Given the description of an element on the screen output the (x, y) to click on. 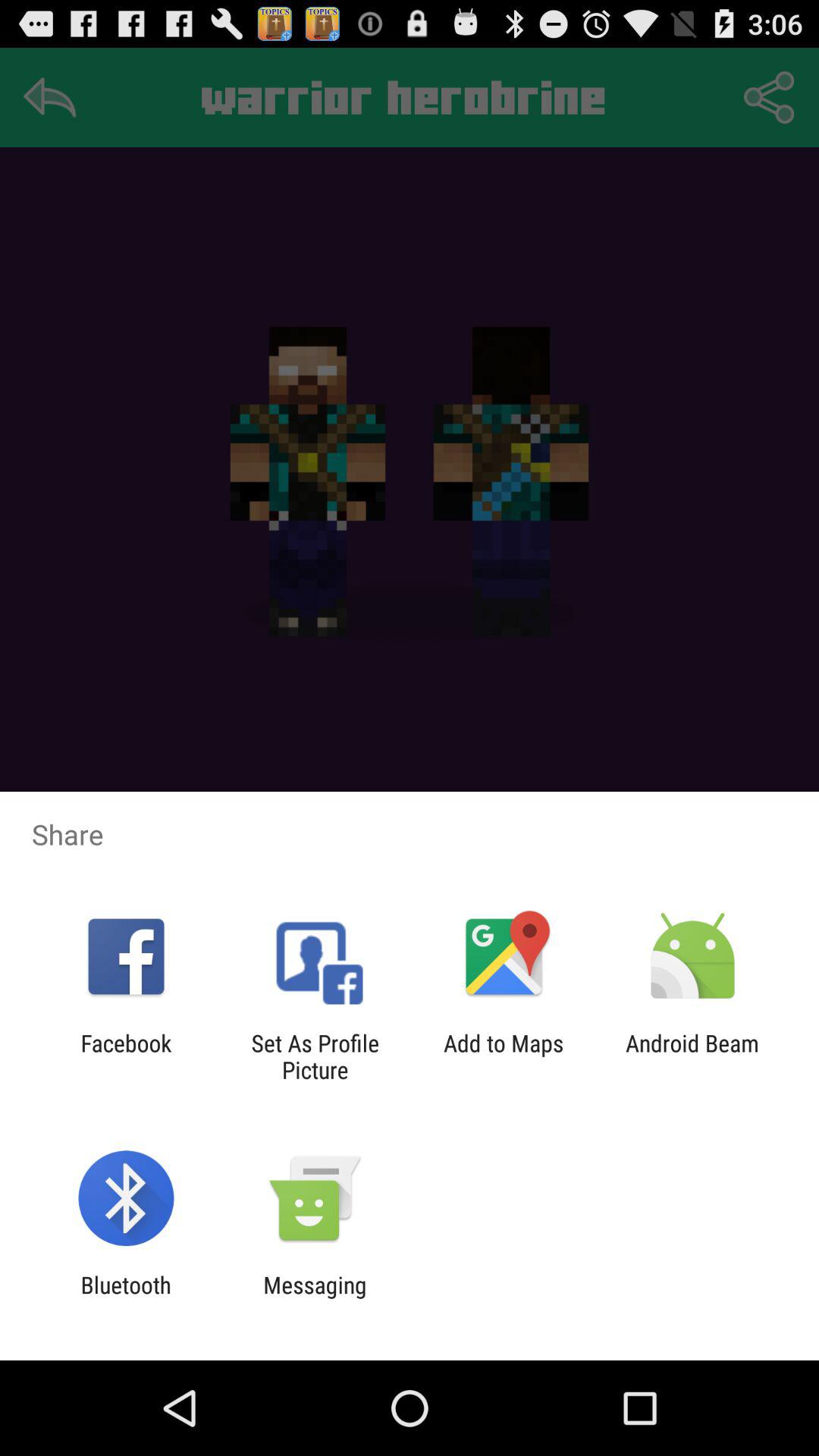
launch item to the right of the bluetooth icon (314, 1298)
